Given the description of an element on the screen output the (x, y) to click on. 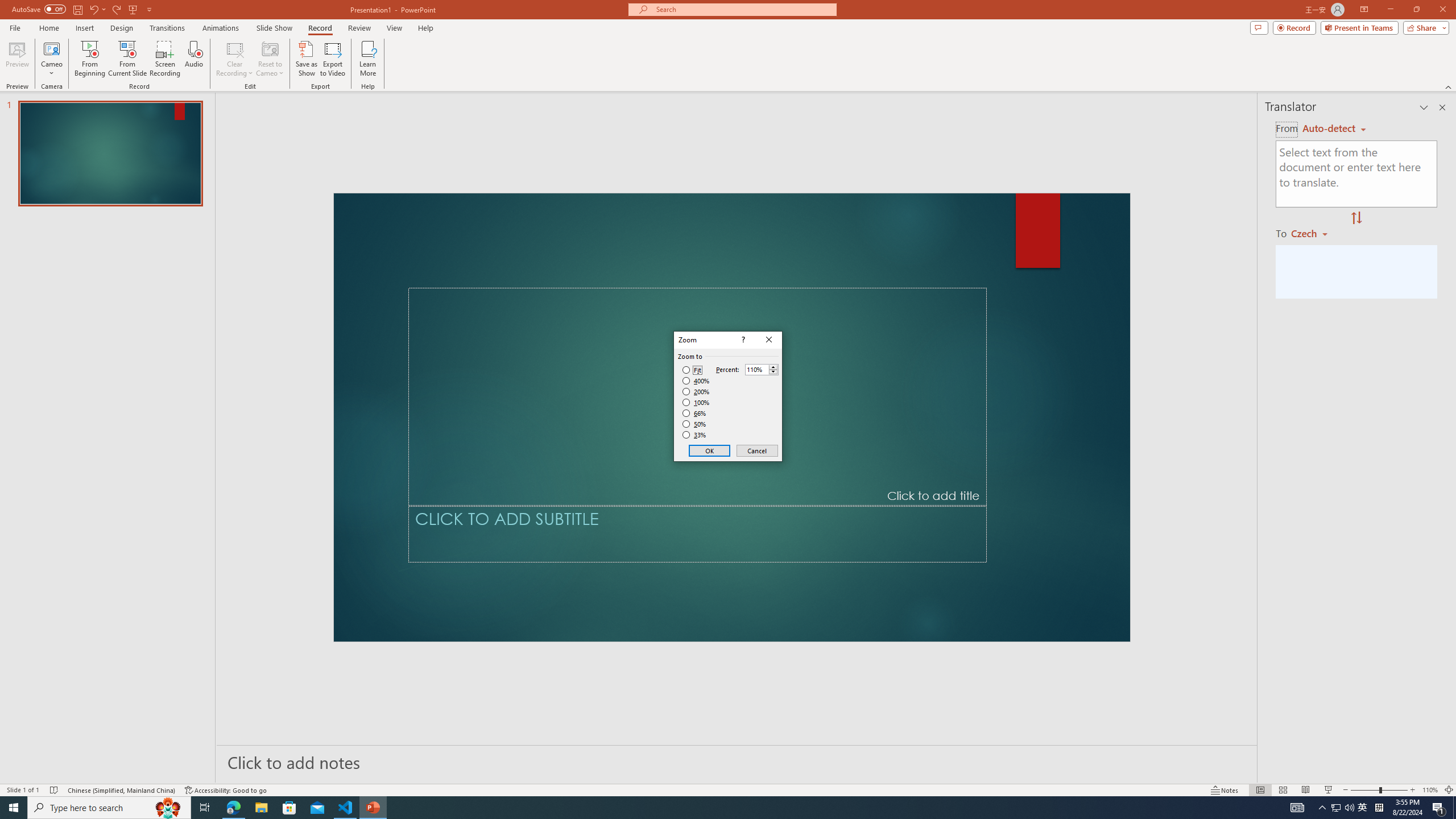
Subtitle TextBox (697, 533)
Swap "from" and "to" languages. (1355, 218)
Action Center, 1 new notification (1439, 807)
Screen Recording (165, 58)
